Given the description of an element on the screen output the (x, y) to click on. 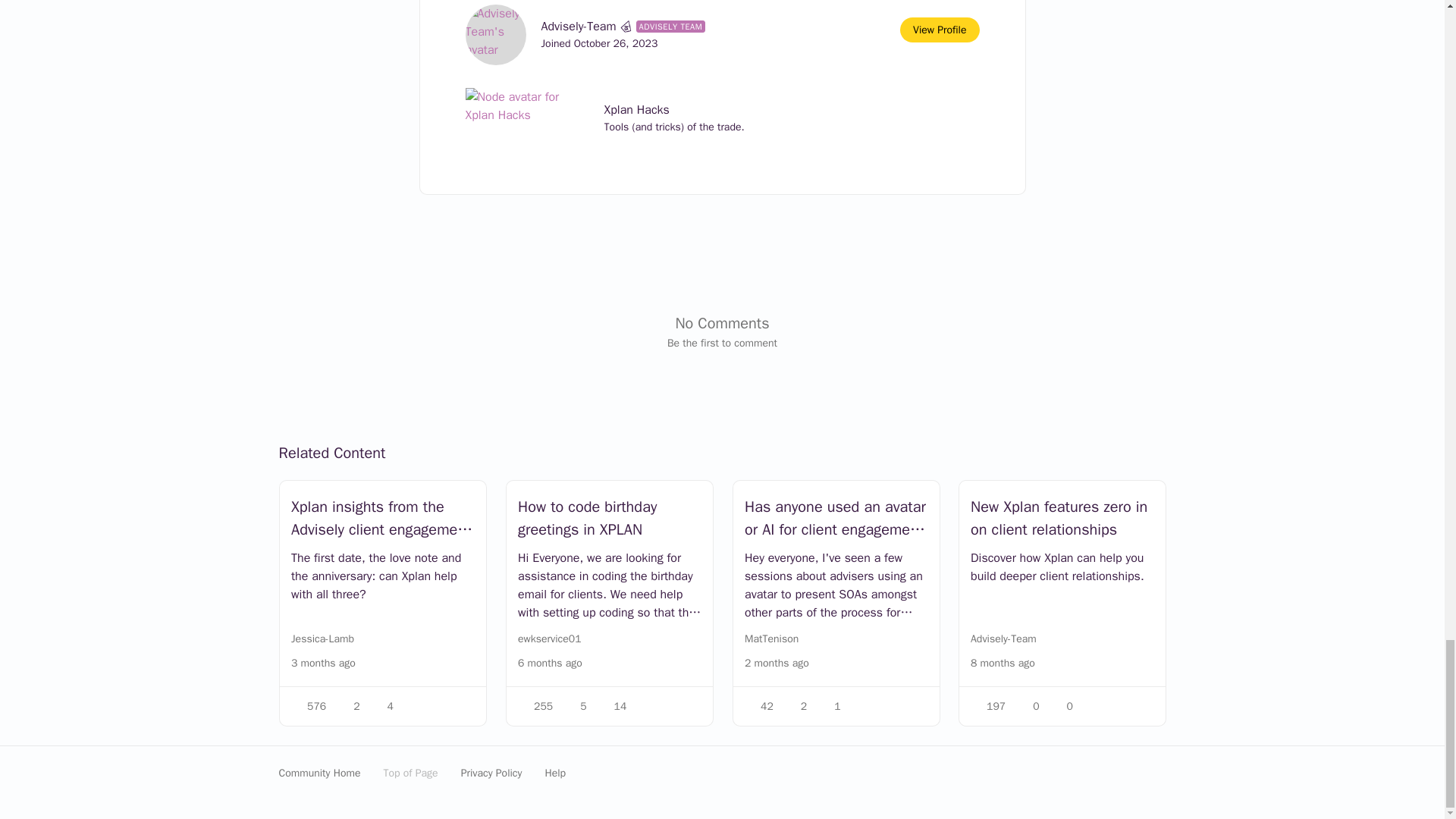
Jessica-Lamb (322, 638)
View Profile (938, 29)
New Xplan features zero in on client relationships (1062, 518)
Xplan Hacks (674, 109)
3 months ago (323, 662)
May 29, 2024 at 2:41 PM (323, 662)
How to code birthday greetings in XPLAN (608, 518)
February 27, 2024 at 10:56 AM (548, 662)
July 5, 2024 at 5:54 AM (776, 662)
Advisely-Team (578, 26)
